Given the description of an element on the screen output the (x, y) to click on. 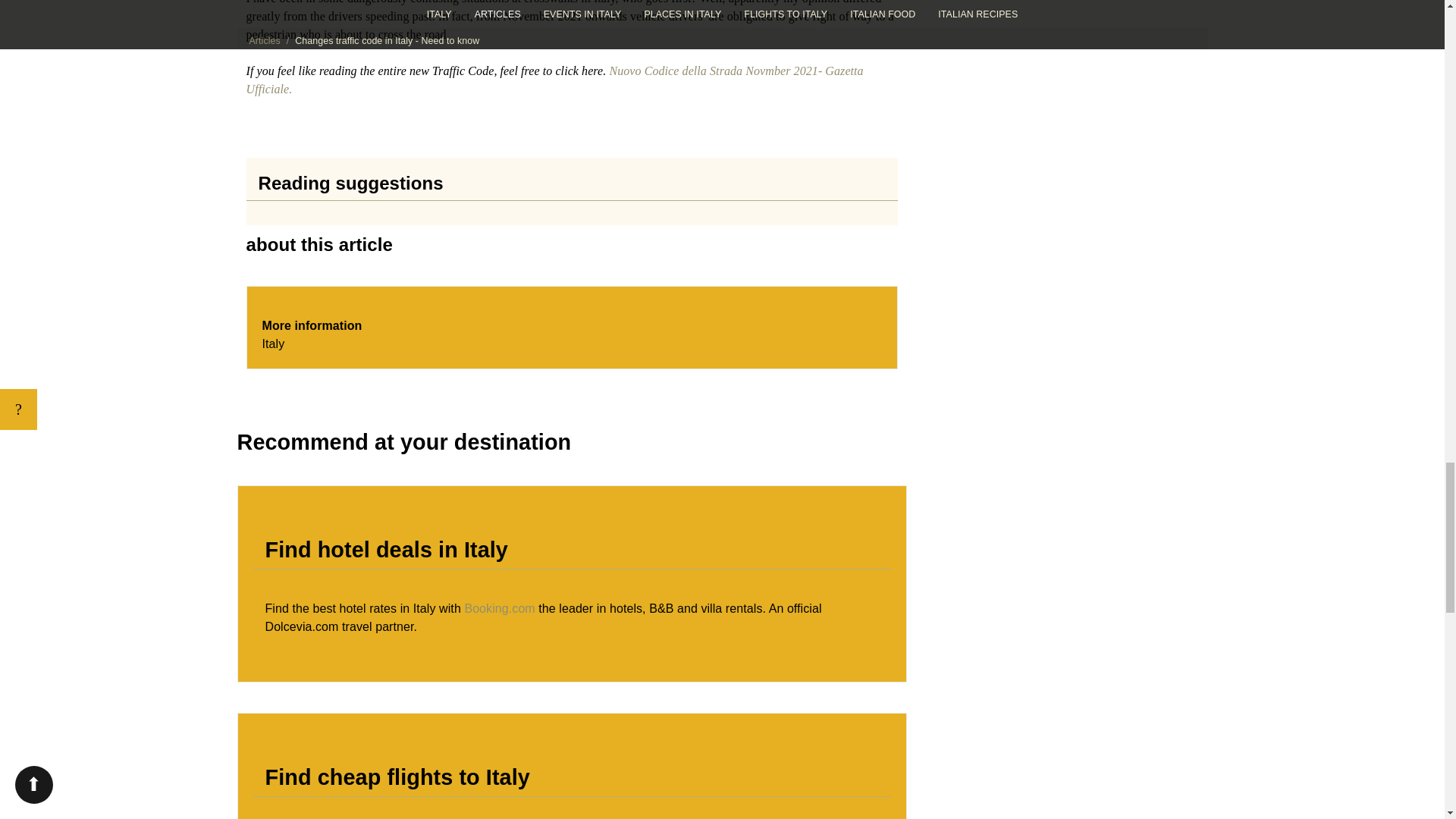
Nuovo Codice della Strada Novmber 2021- Gazetta Ufficiale.  (554, 79)
Find hotel deals in Italy (499, 608)
New traffic rules Italy November 2021 (554, 79)
Booking.com (499, 608)
